Given the description of an element on the screen output the (x, y) to click on. 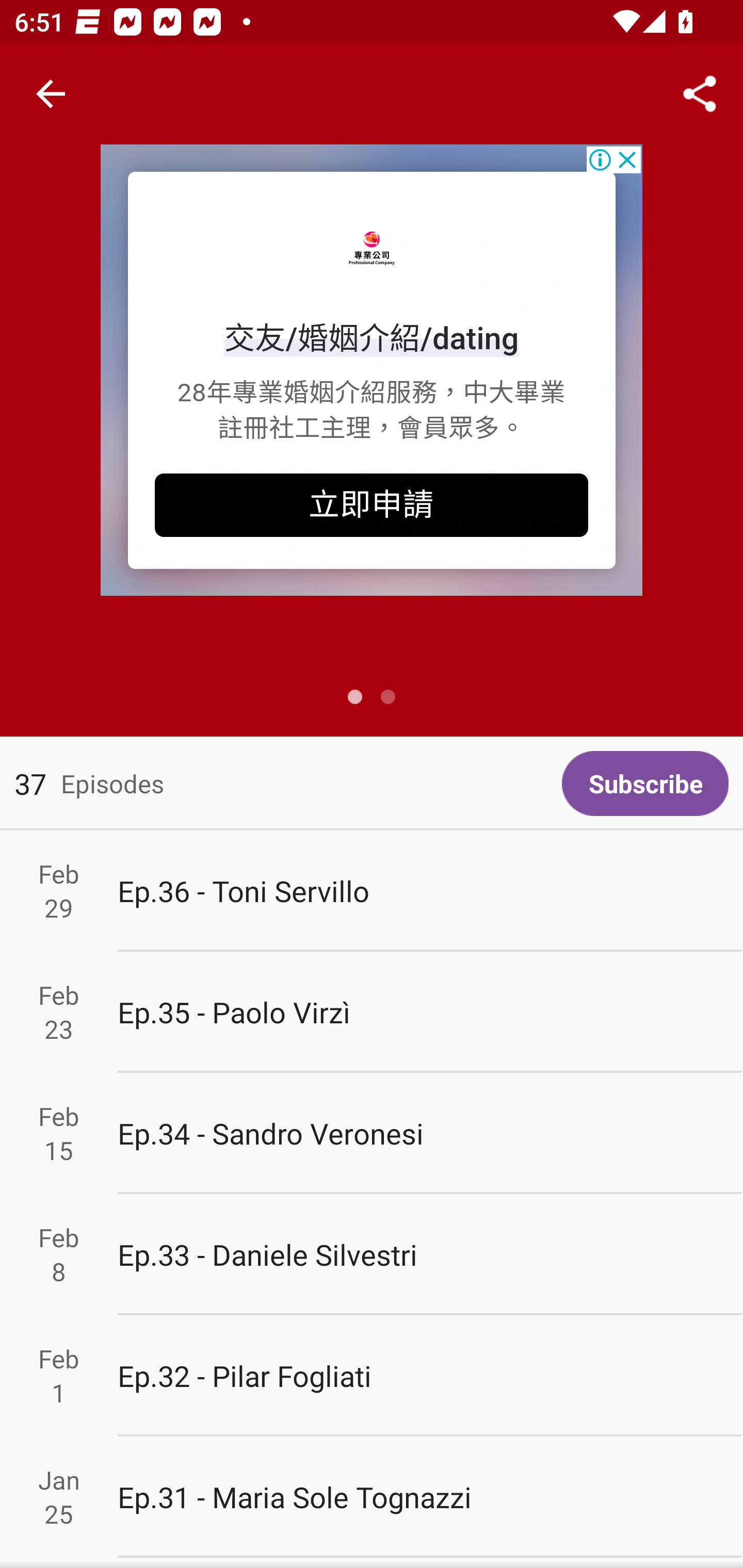
Navigate up (50, 93)
Share... (699, 93)
交友/婚姻介紹/dating (371, 338)
立即申請 (371, 505)
Subscribe (644, 783)
Feb 29 Ep.36 - Toni Servillo (371, 891)
Feb 23 Ep.35 - Paolo Virzì (371, 1011)
Feb 15 Ep.34 - Sandro Veronesi (371, 1133)
Feb 8 Ep.33 - Daniele Silvestri (371, 1254)
Feb 1 Ep.32 - Pilar Fogliati (371, 1375)
Jan 25 Ep.31 - Maria Sole Tognazzi (371, 1496)
